Given the description of an element on the screen output the (x, y) to click on. 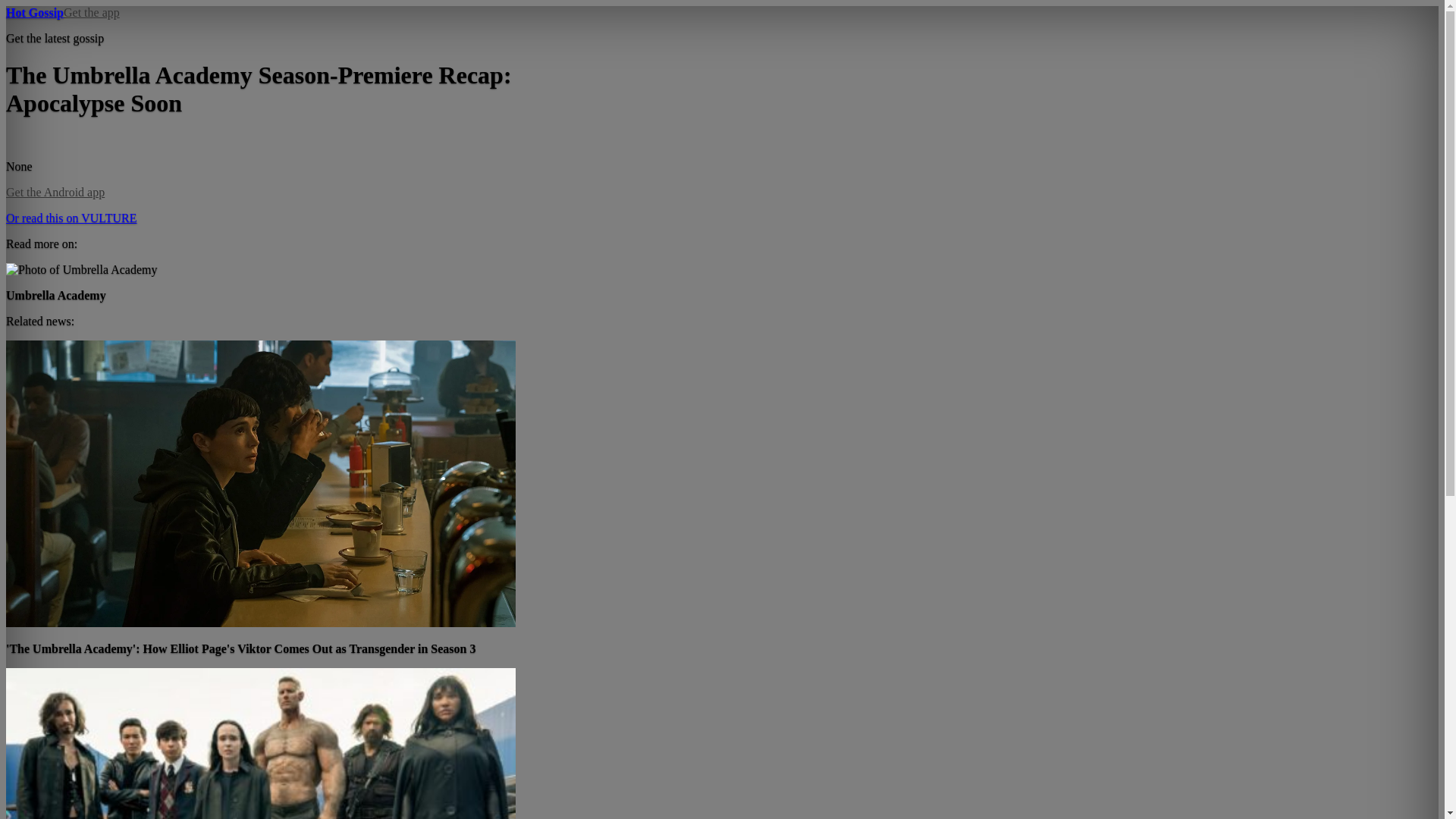
Or read this on VULTURE (70, 217)
Hot Gossip (34, 11)
Get the Android app (54, 192)
Get the app (91, 11)
